Given the description of an element on the screen output the (x, y) to click on. 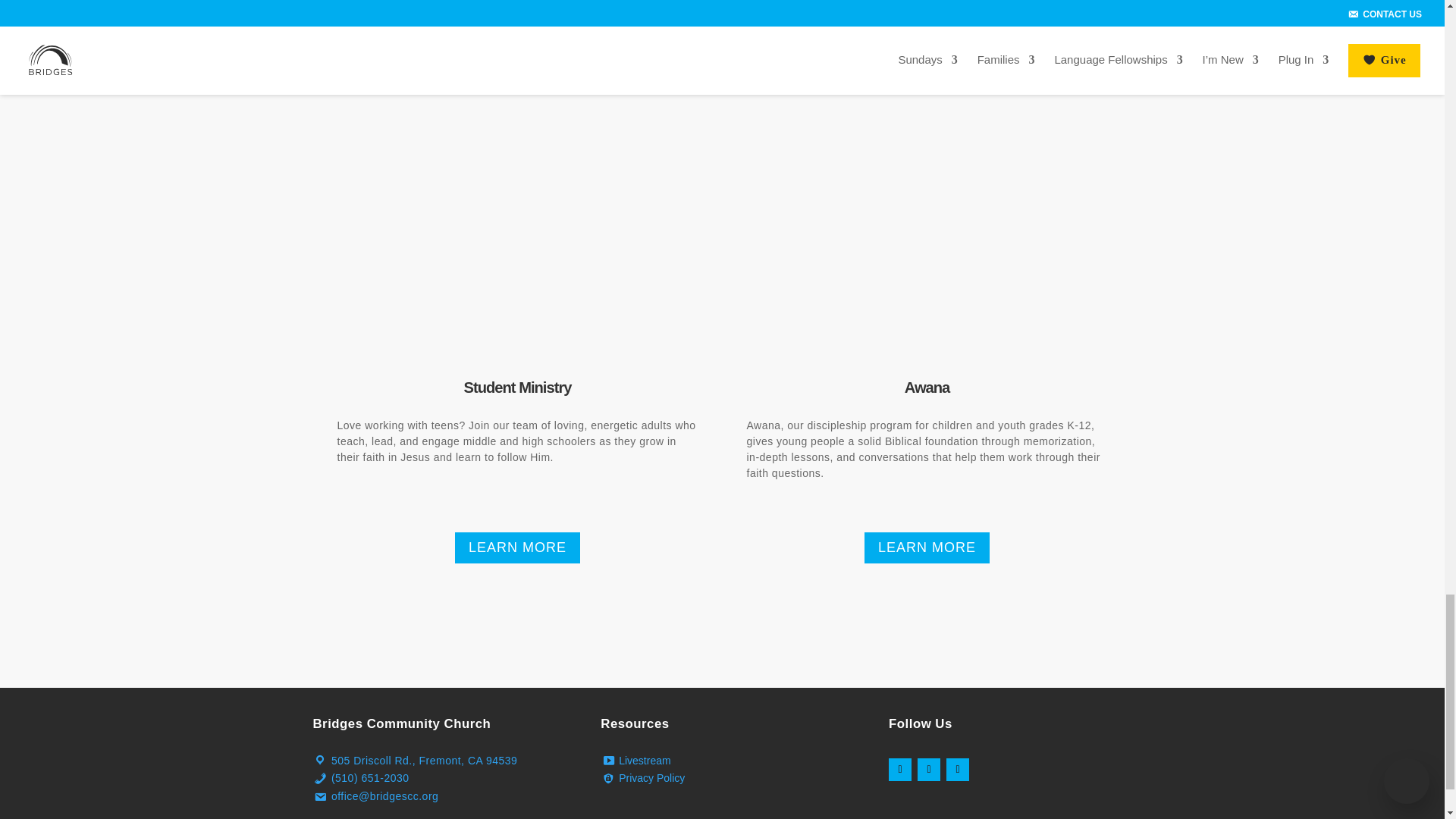
Follow on Instagram (928, 769)
Follow on Facebook (899, 769)
Follow on Vimeo (957, 769)
